Given the description of an element on the screen output the (x, y) to click on. 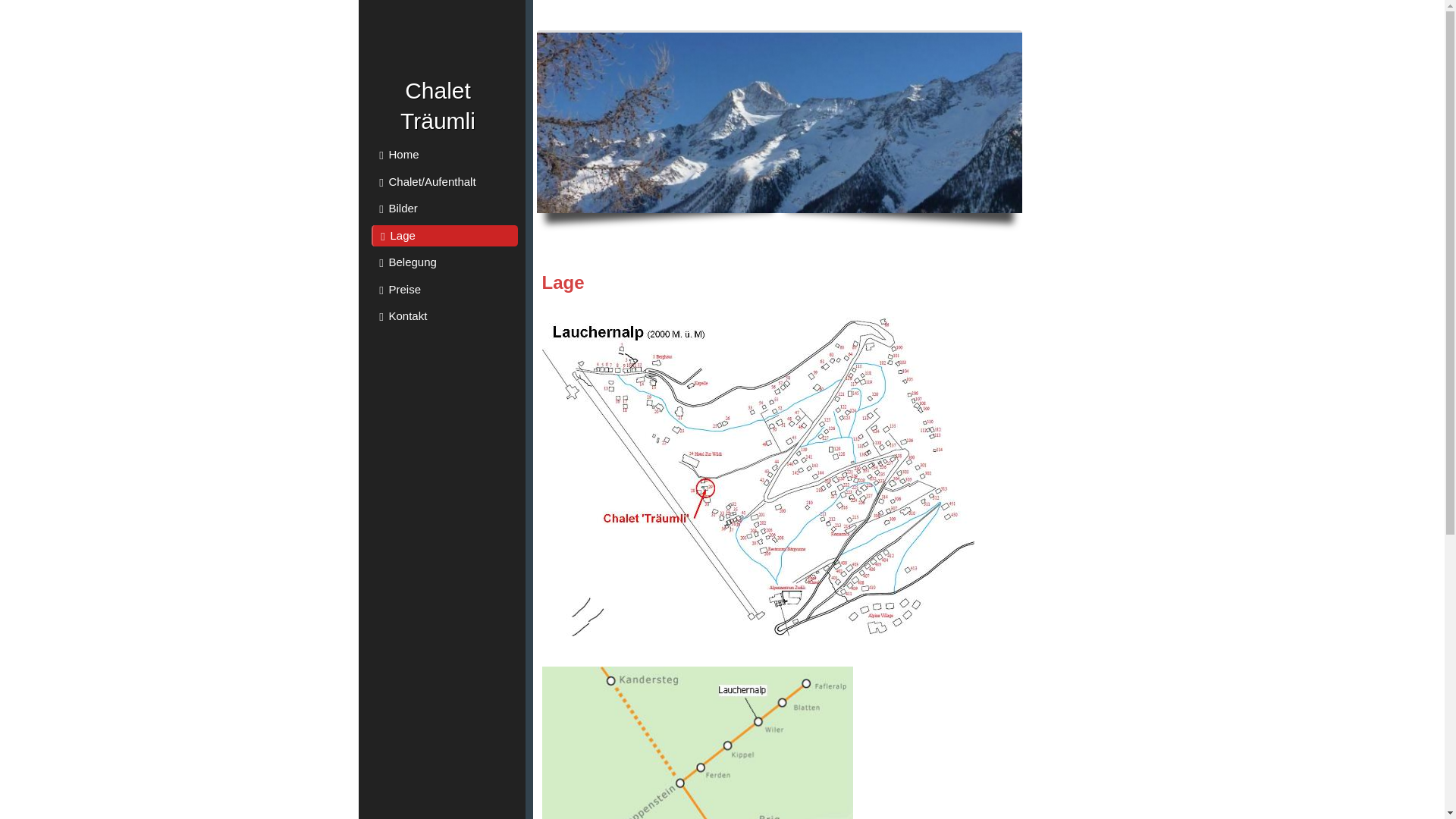
Chalet/Aufenthalt Element type: text (444, 181)
Bilder Element type: text (444, 208)
Belegung Element type: text (444, 262)
Lage Element type: text (444, 234)
Preise Element type: text (444, 289)
Home Element type: text (444, 154)
Kontakt Element type: text (444, 315)
